Given the description of an element on the screen output the (x, y) to click on. 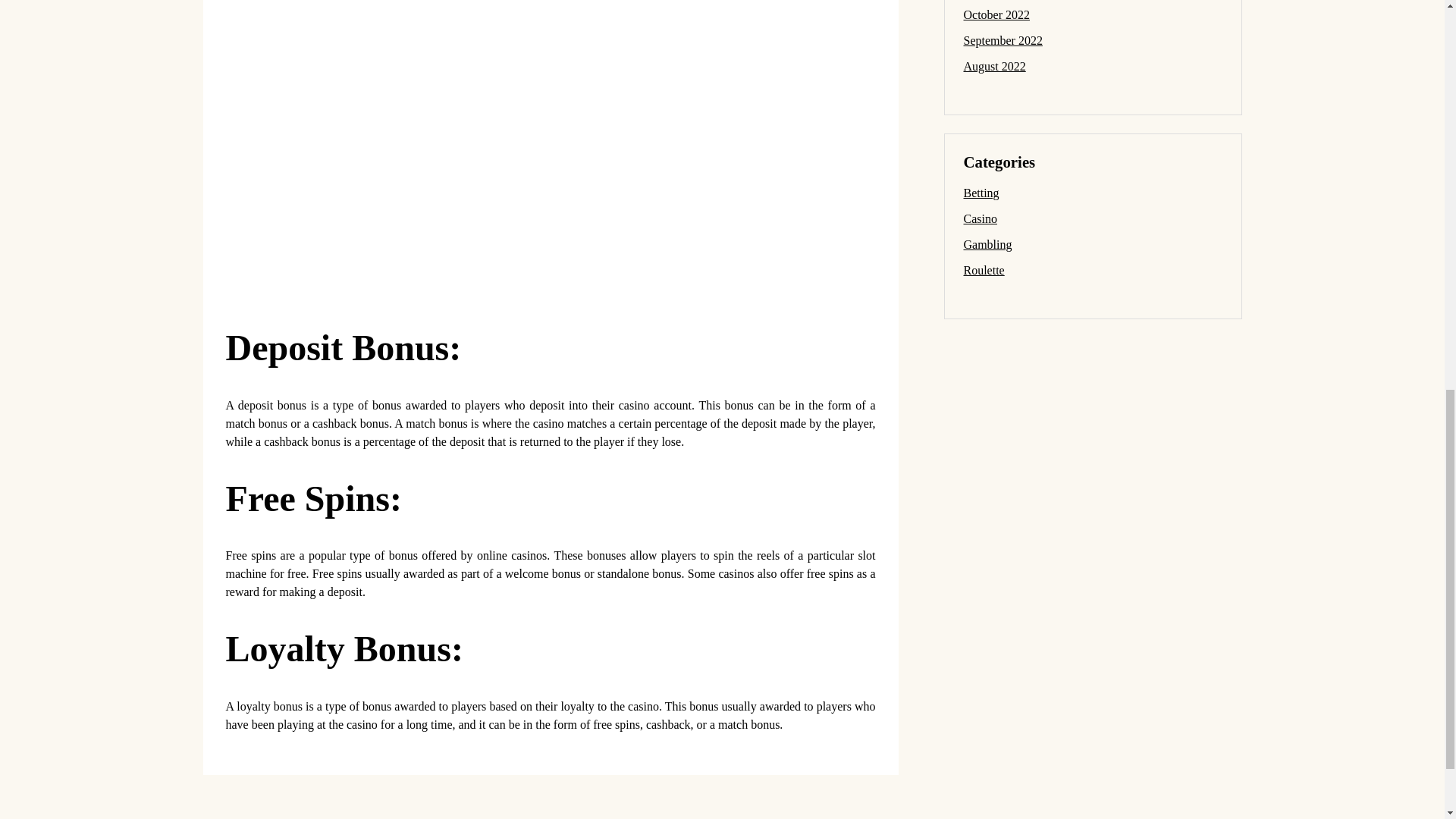
Roulette (983, 269)
August 2022 (993, 65)
Betting (980, 192)
Casino (978, 218)
September 2022 (1002, 40)
Gambling (986, 244)
October 2022 (995, 14)
